Given the description of an element on the screen output the (x, y) to click on. 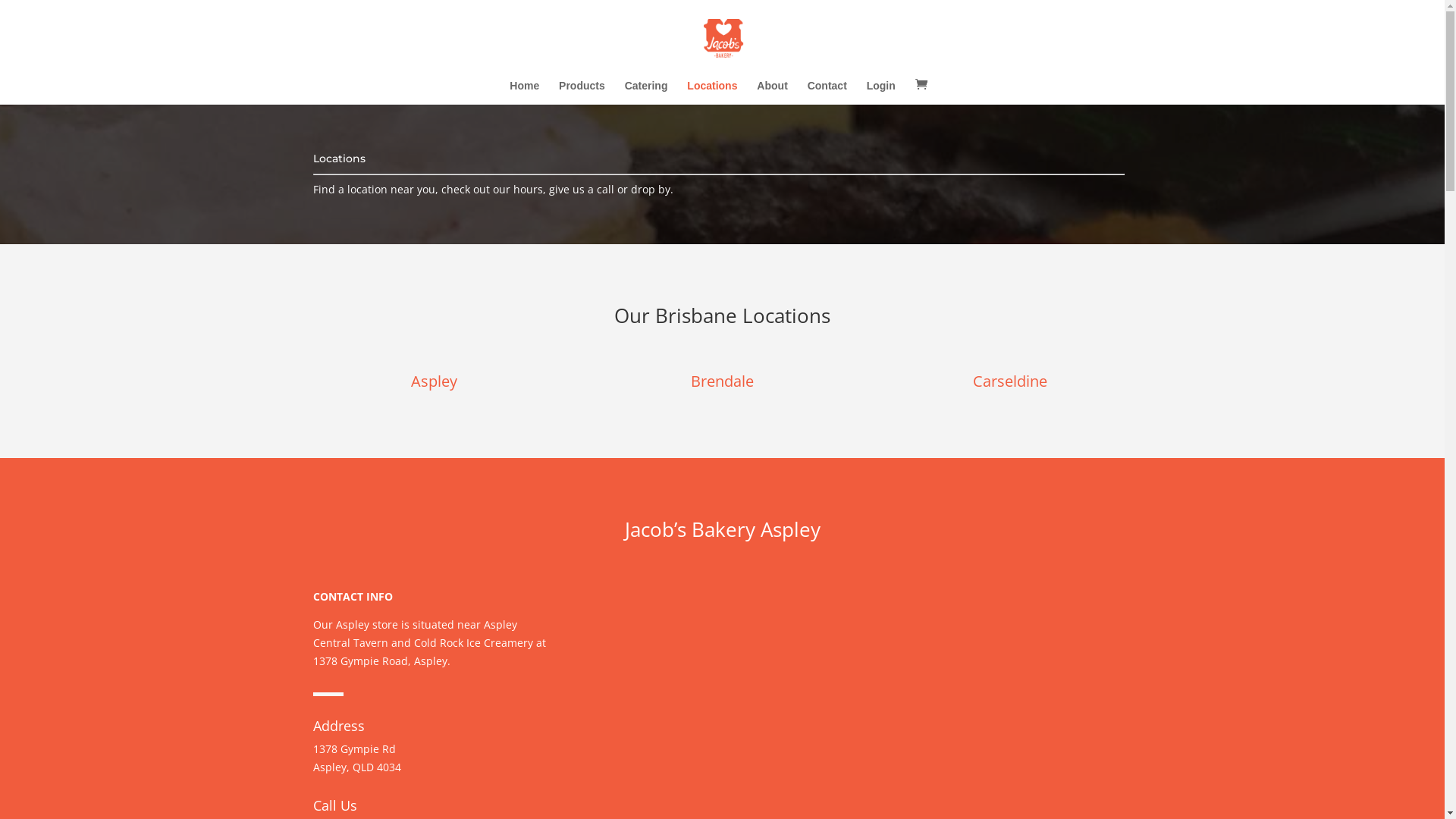
Locations Element type: text (712, 92)
Catering Element type: text (646, 92)
Carseldine Element type: text (1009, 380)
Brendale Element type: text (721, 380)
Home Element type: text (524, 92)
Aspley Element type: text (434, 380)
Contact Element type: text (827, 92)
Login Element type: text (880, 92)
Products Element type: text (581, 92)
About Element type: text (771, 92)
